Given the description of an element on the screen output the (x, y) to click on. 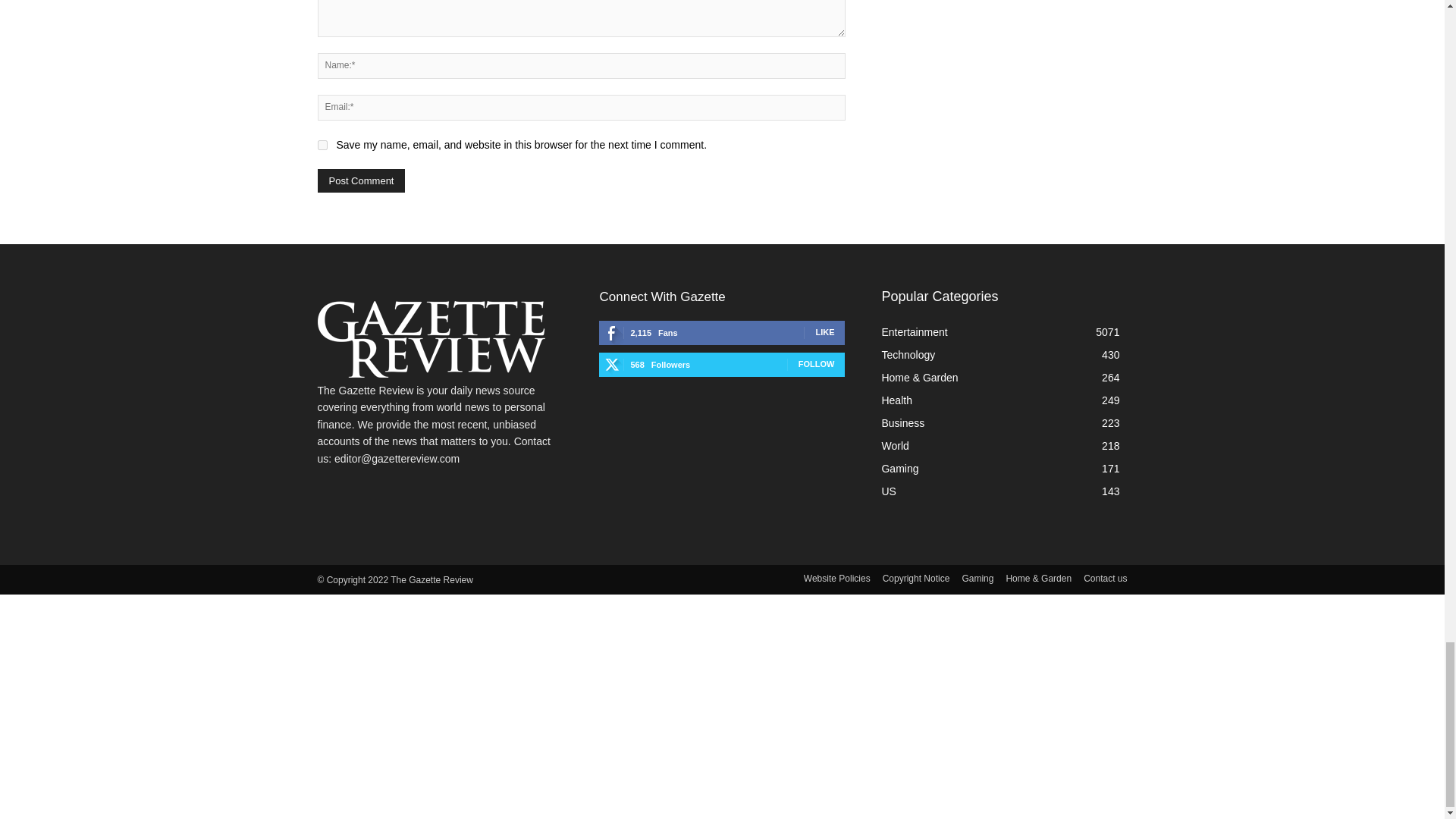
Post Comment (360, 180)
yes (321, 144)
